Given the description of an element on the screen output the (x, y) to click on. 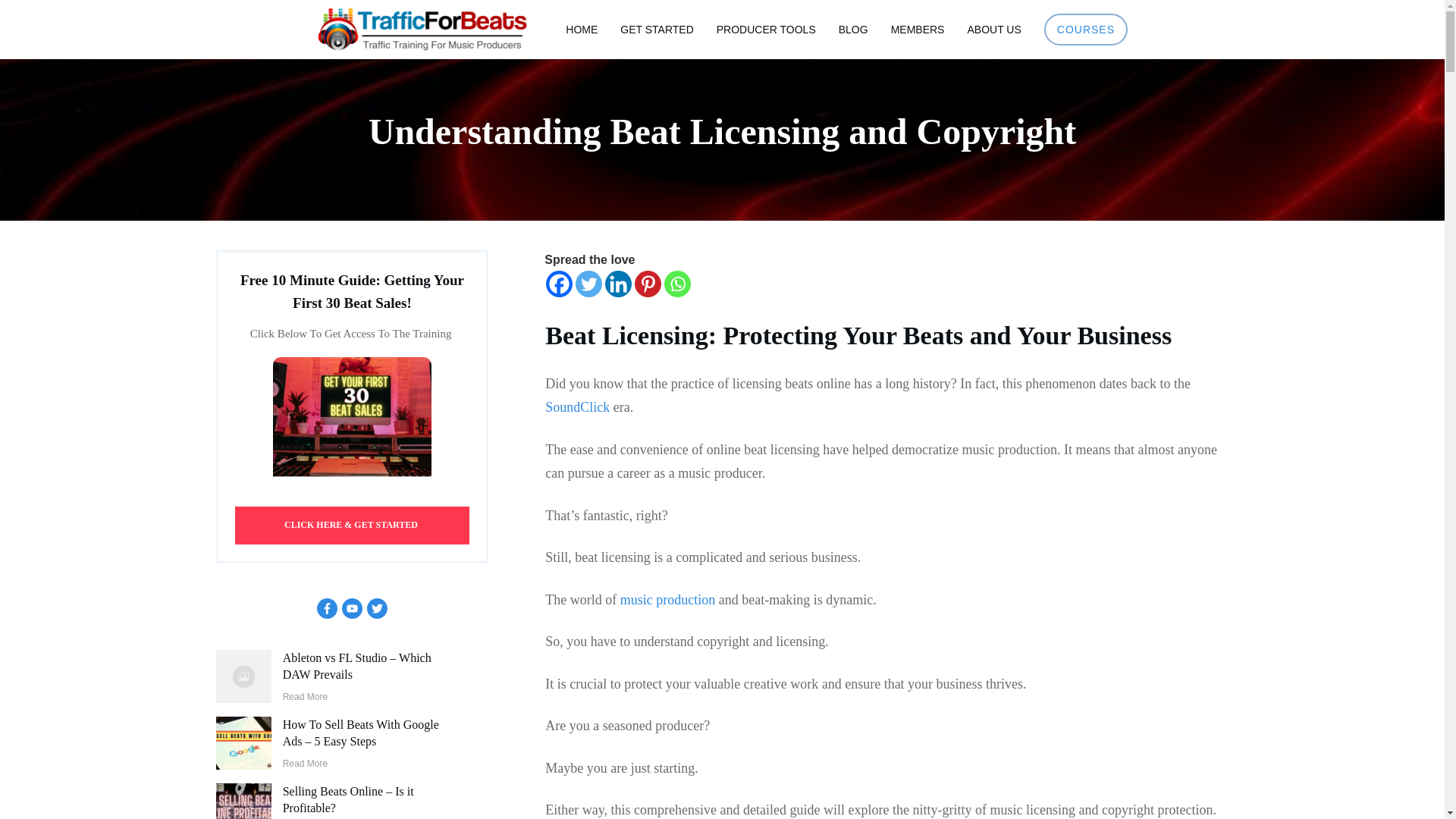
Twitter (588, 284)
BLOG (852, 29)
SoundClick (577, 406)
MEMBERS (917, 29)
Facebook (559, 284)
COURSES (1086, 29)
PRODUCER TOOLS (765, 29)
Whatsapp (676, 284)
ABOUT US (993, 29)
music production (667, 599)
